Given the description of an element on the screen output the (x, y) to click on. 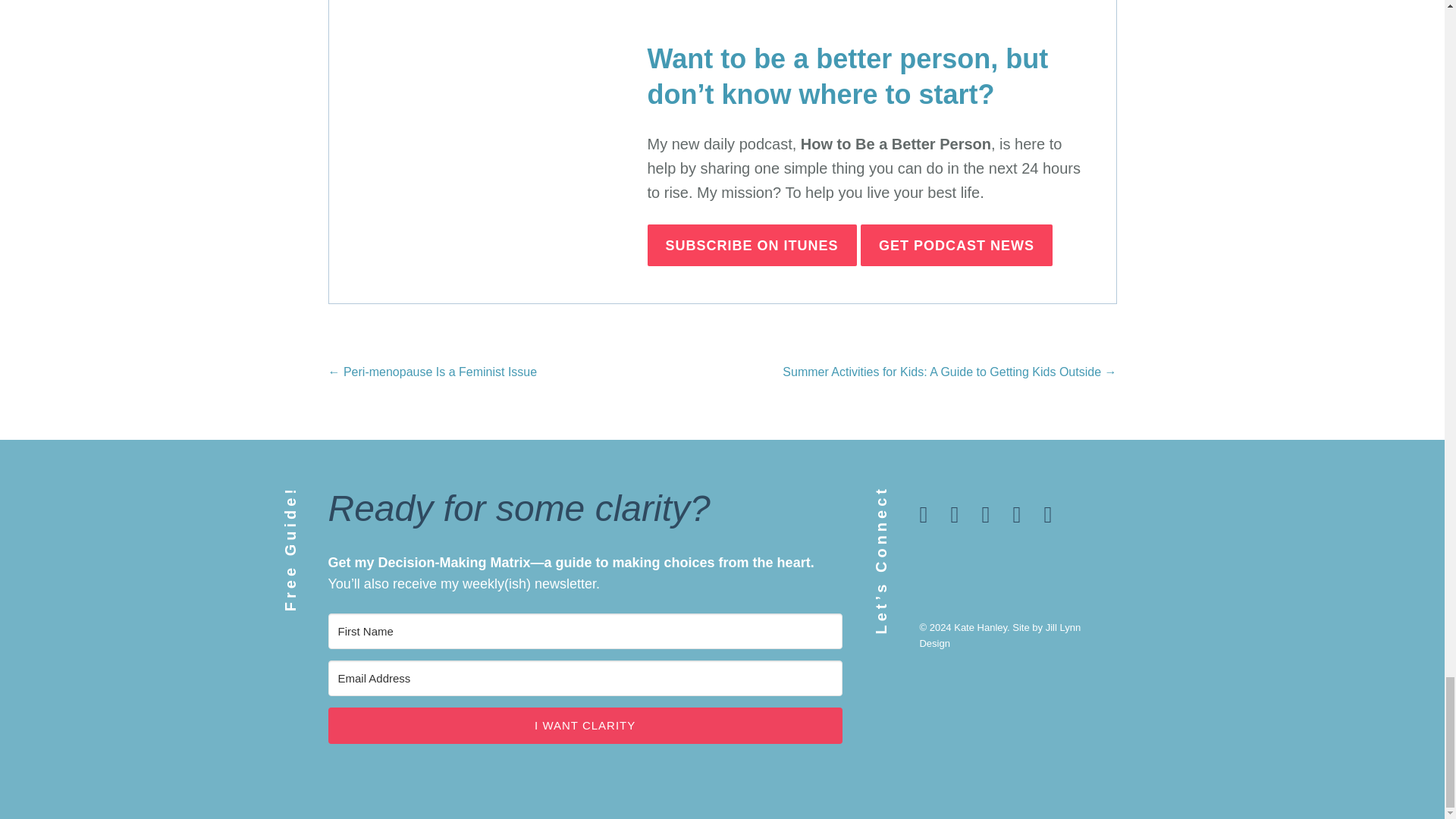
Atlanta WordPress Developer (999, 635)
GET PODCAST NEWS (956, 245)
Site by Jill Lynn Design (999, 635)
I WANT CLARITY (584, 725)
SUBSCRIBE ON ITUNES (752, 245)
